Given the description of an element on the screen output the (x, y) to click on. 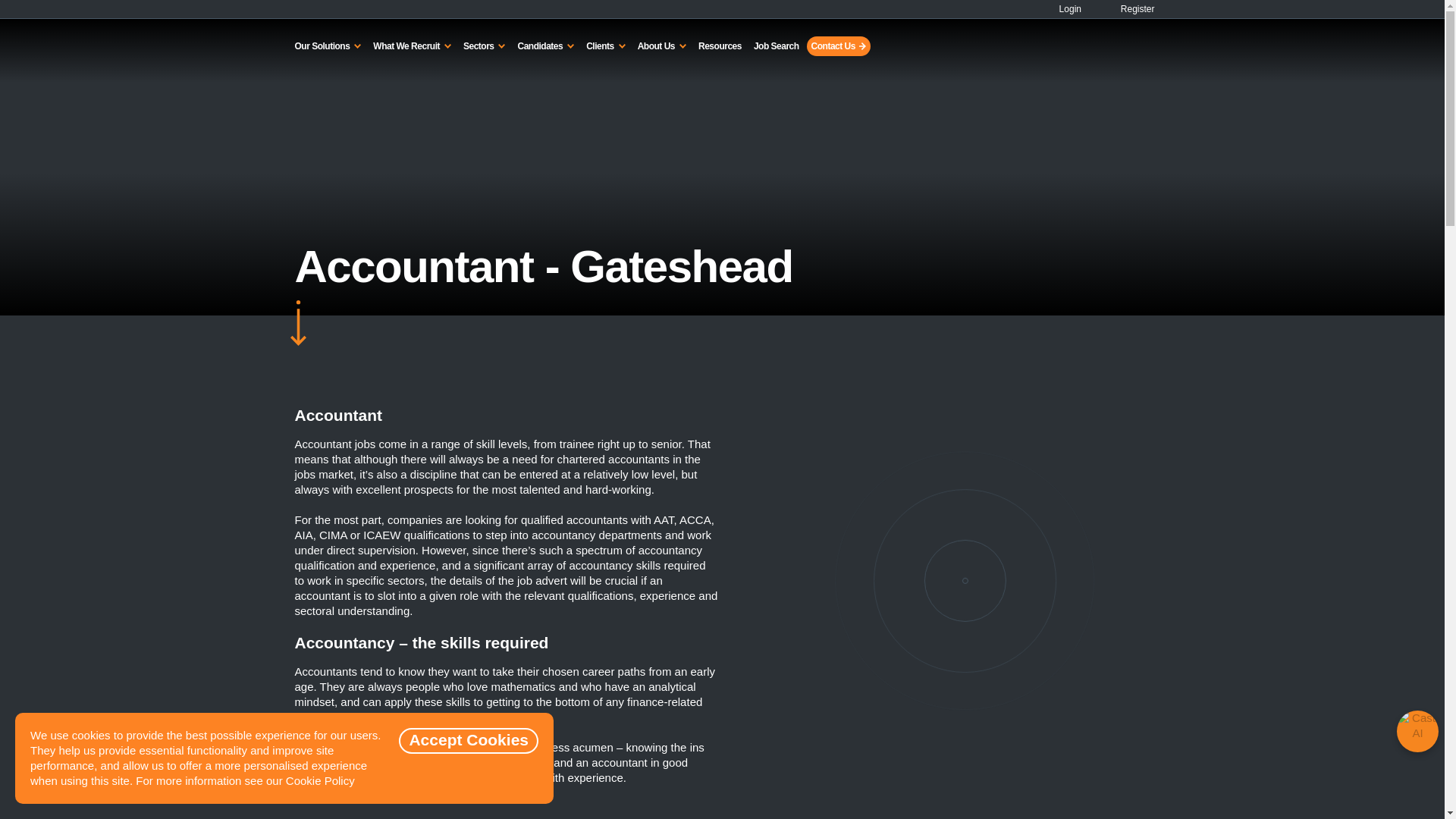
Sectors (484, 46)
Register (1128, 9)
What We Recruit (411, 46)
Login (1063, 9)
Our Solutions (327, 46)
